Given the description of an element on the screen output the (x, y) to click on. 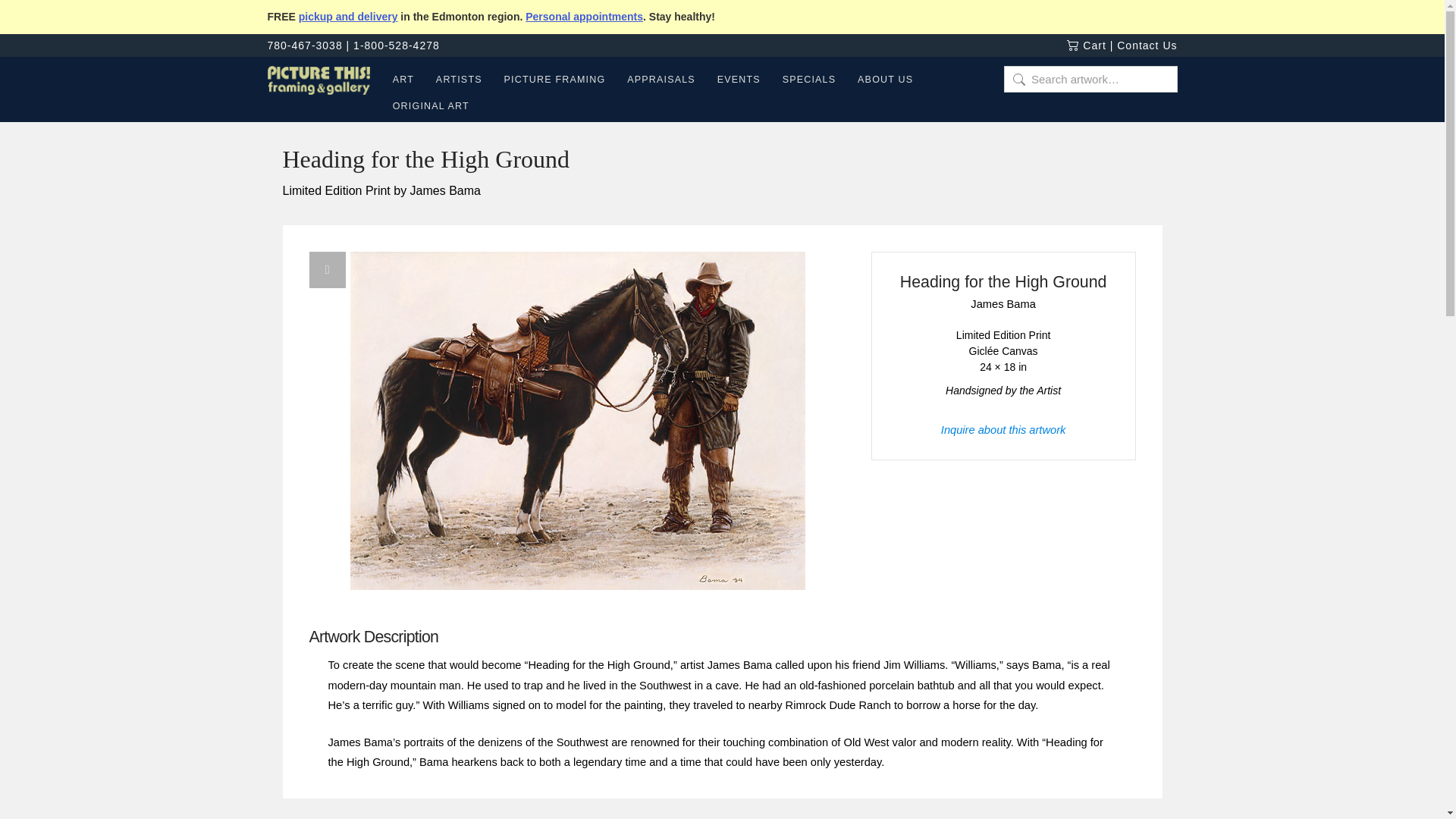
ART (403, 81)
ARTISTS (459, 81)
APPRAISALS (660, 81)
Personal appointments (584, 16)
780-467-3038 (304, 45)
Contact Us (1146, 45)
ABOUT US (884, 81)
EVENTS (738, 81)
Search (33, 17)
pickup and delivery (347, 16)
1-800-528-4278 (396, 45)
Inquire about this artwork (1002, 429)
ORIGINAL ART (424, 108)
SPECIALS (808, 81)
